Given the description of an element on the screen output the (x, y) to click on. 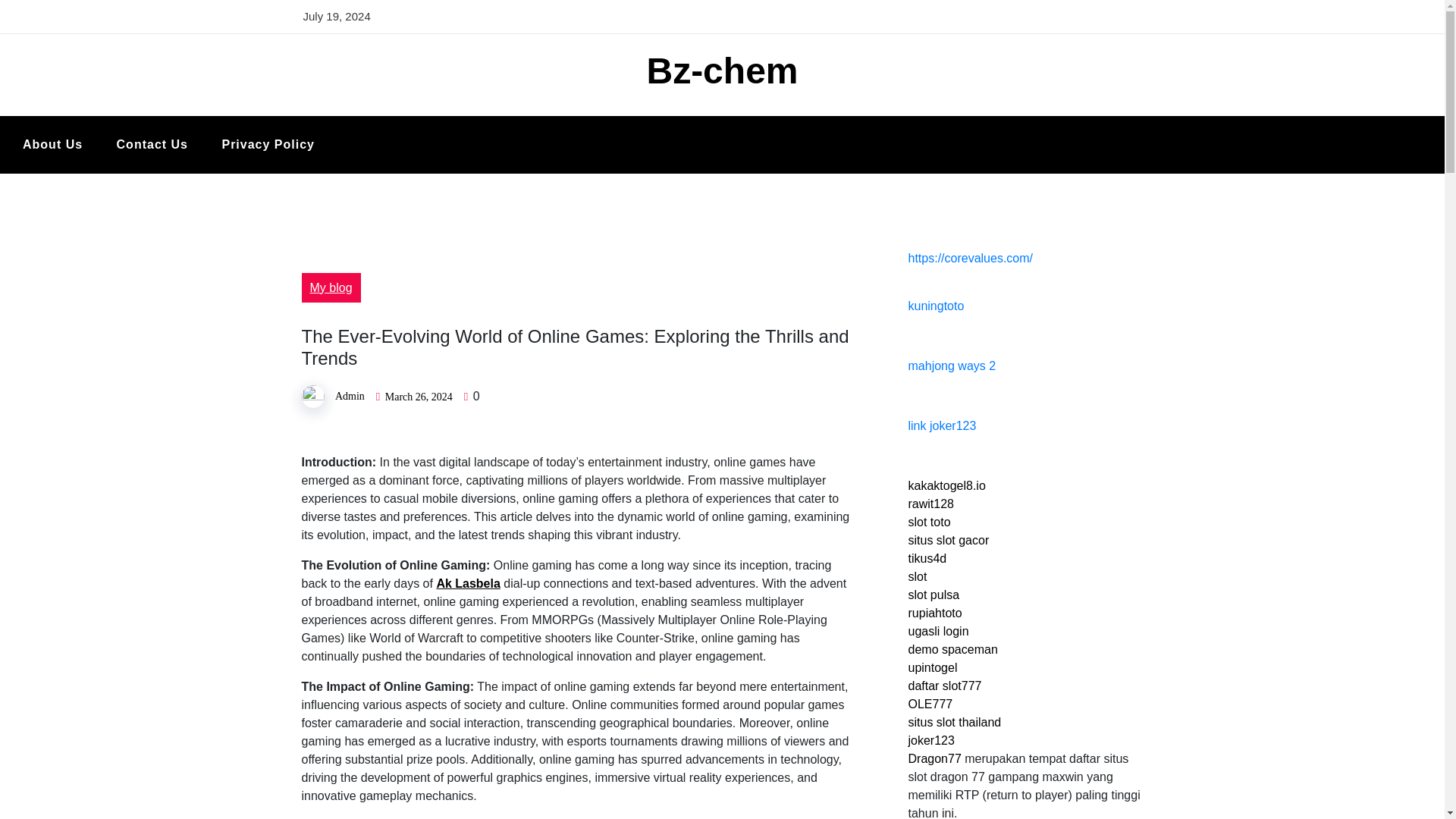
tikus4d (927, 558)
slot toto (929, 521)
Bz-chem (721, 70)
Contact Us (152, 144)
About Us (52, 144)
Dragon77 (934, 758)
slot (917, 576)
ugasli login (938, 631)
Bz-chem (721, 70)
joker123 (931, 739)
OLE777 (930, 703)
upintogel (933, 667)
My blog (331, 287)
Admin (349, 396)
Ak Lasbela (467, 583)
